Given the description of an element on the screen output the (x, y) to click on. 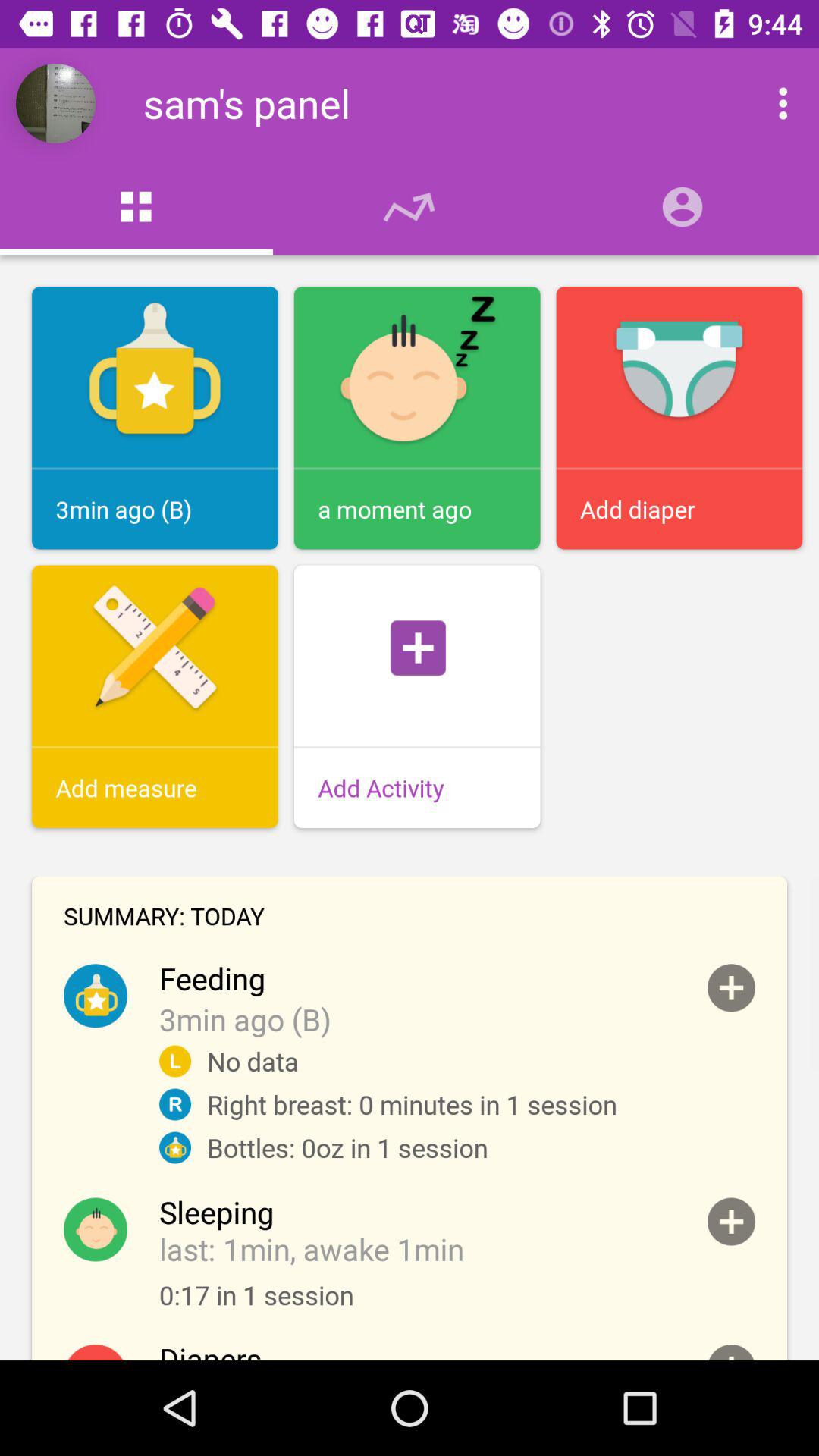
collapse item (731, 1221)
